Given the description of an element on the screen output the (x, y) to click on. 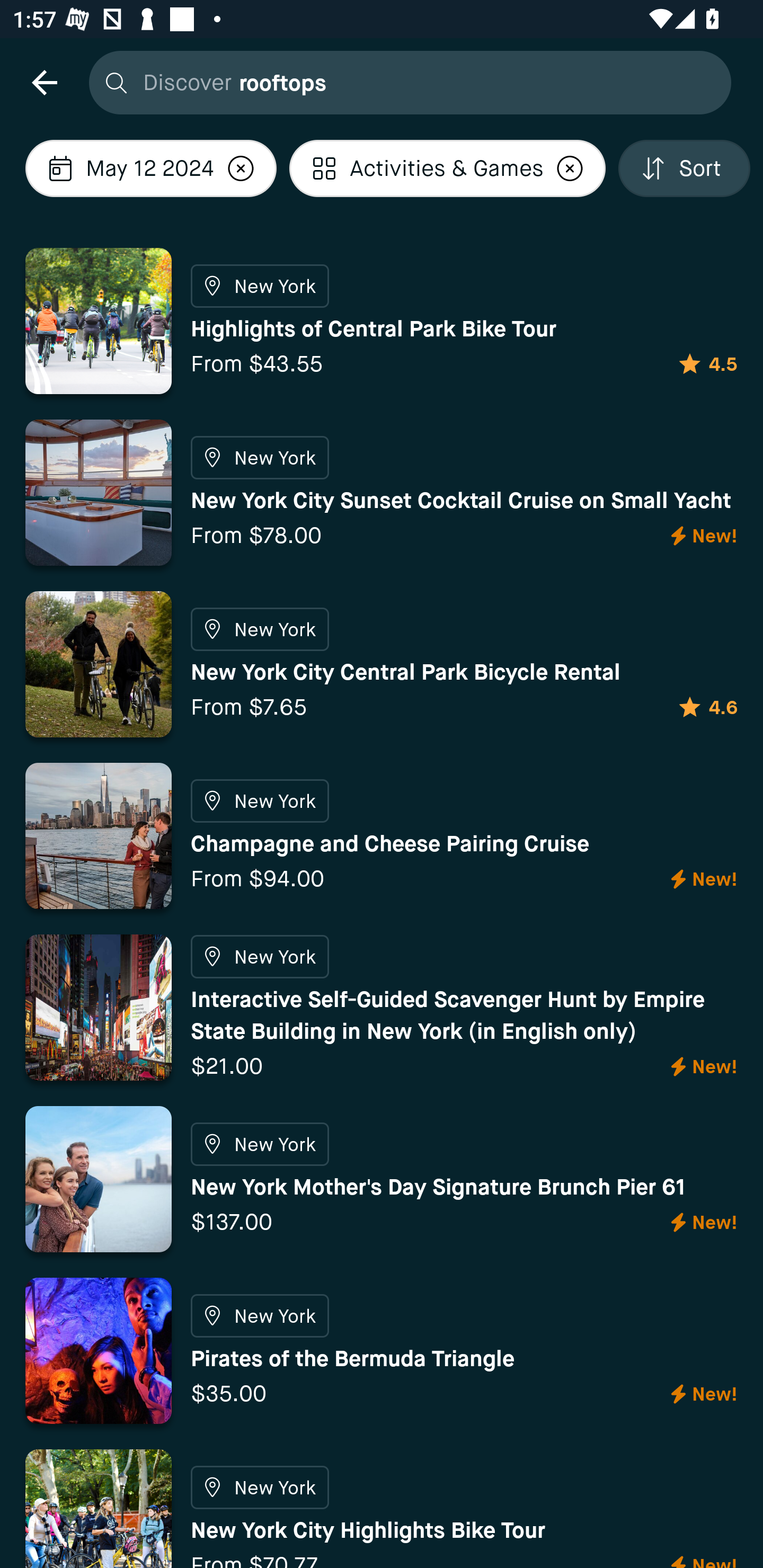
navigation icon (44, 81)
Discover rooftops (405, 81)
Localized description (240, 168)
Localized description (569, 168)
Localized description Sort (684, 168)
